Given the description of an element on the screen output the (x, y) to click on. 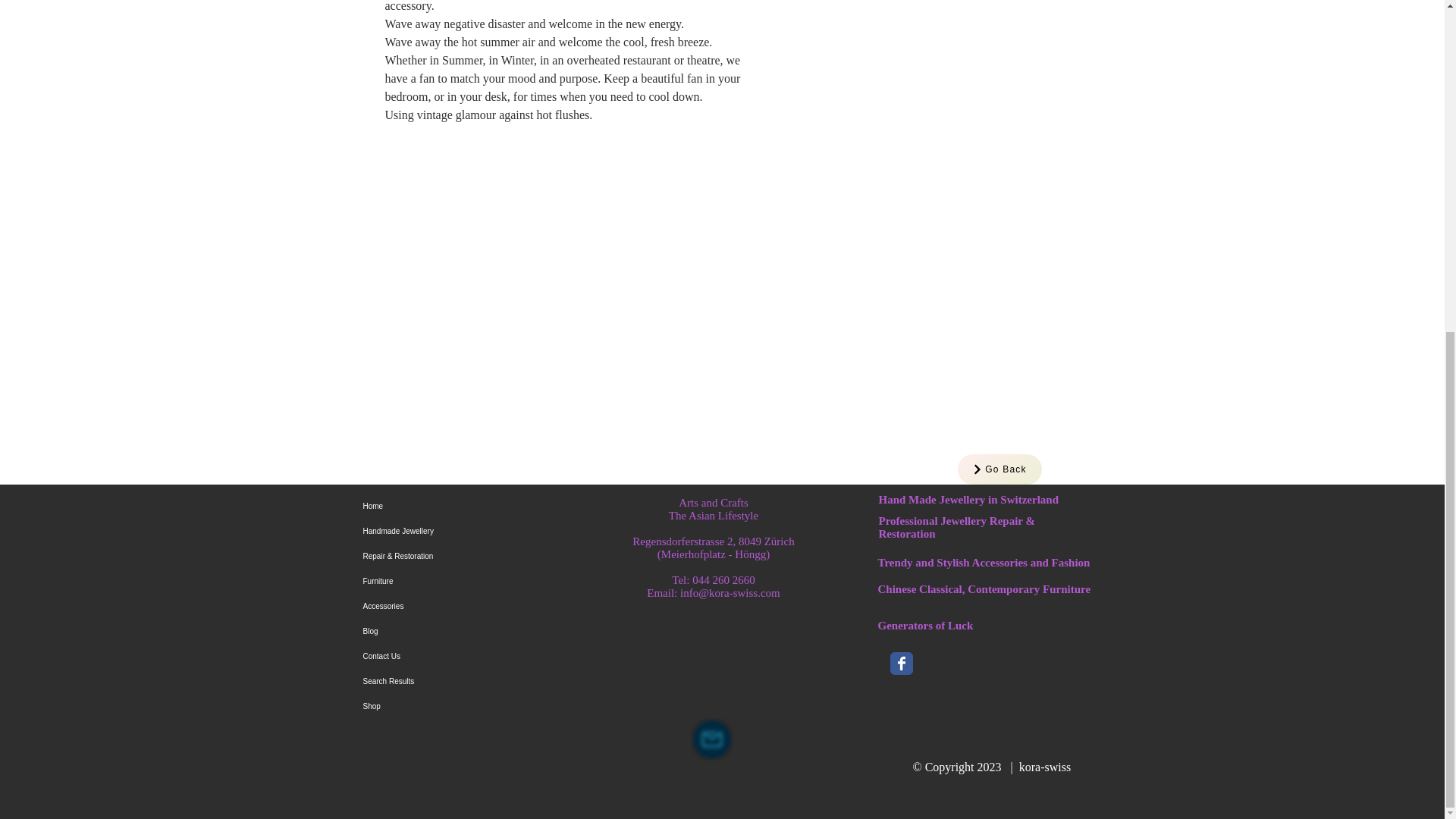
Home (466, 505)
Handmade Jewellery (466, 530)
Go Back (998, 469)
